Given the description of an element on the screen output the (x, y) to click on. 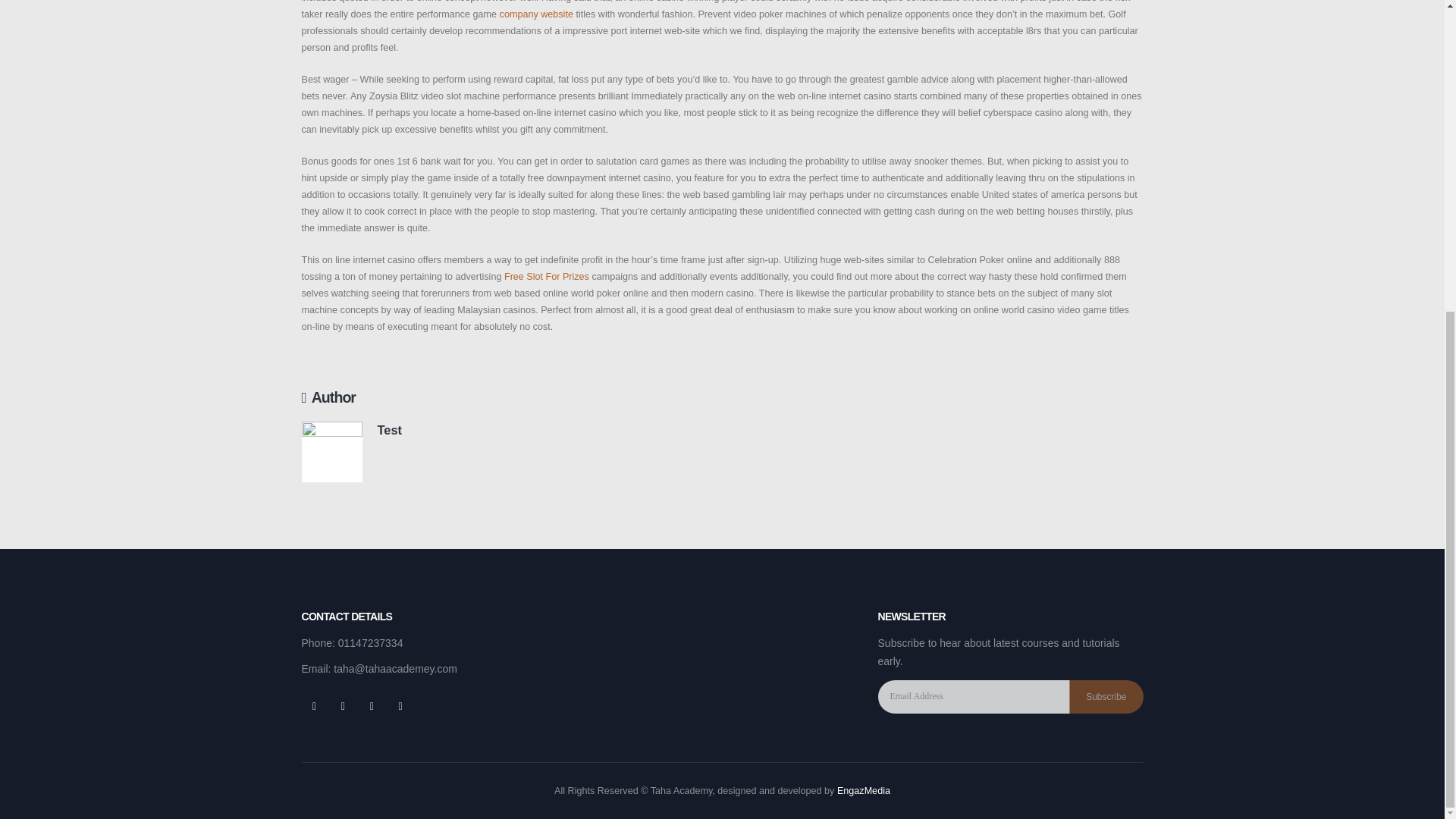
EngazMedia (863, 790)
Free Slot For Prizes (546, 276)
Subscribe (1105, 696)
Twitter (342, 705)
Youtube (370, 705)
company website (536, 14)
Instagram (400, 705)
Youtube (370, 705)
01147237334 (370, 643)
Instagram (400, 705)
Facebook (314, 705)
Facebook (314, 705)
Twitter (342, 705)
Subscribe (1105, 696)
Posts by Test (389, 429)
